Given the description of an element on the screen output the (x, y) to click on. 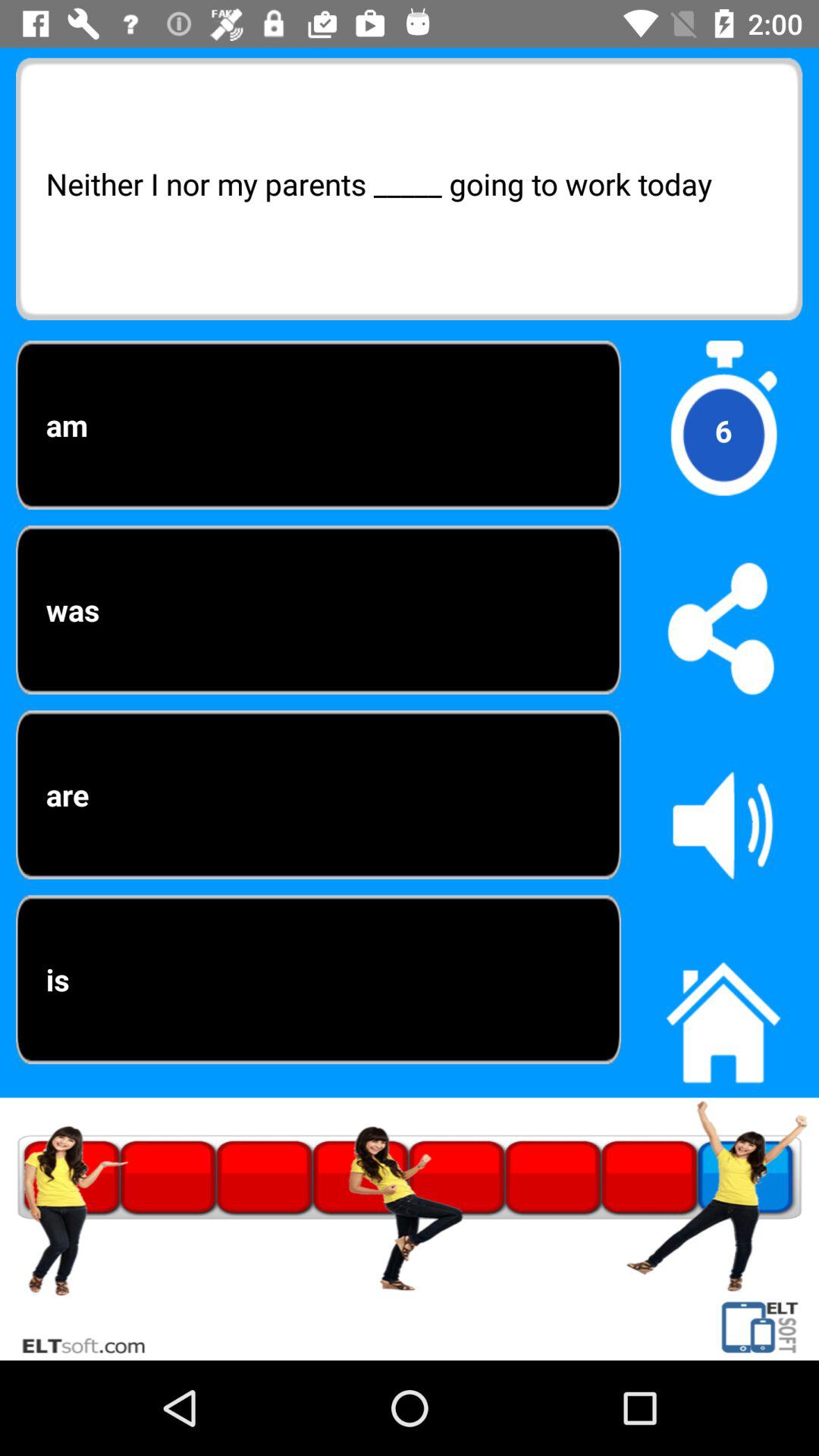
share the activity (723, 627)
